Given the description of an element on the screen output the (x, y) to click on. 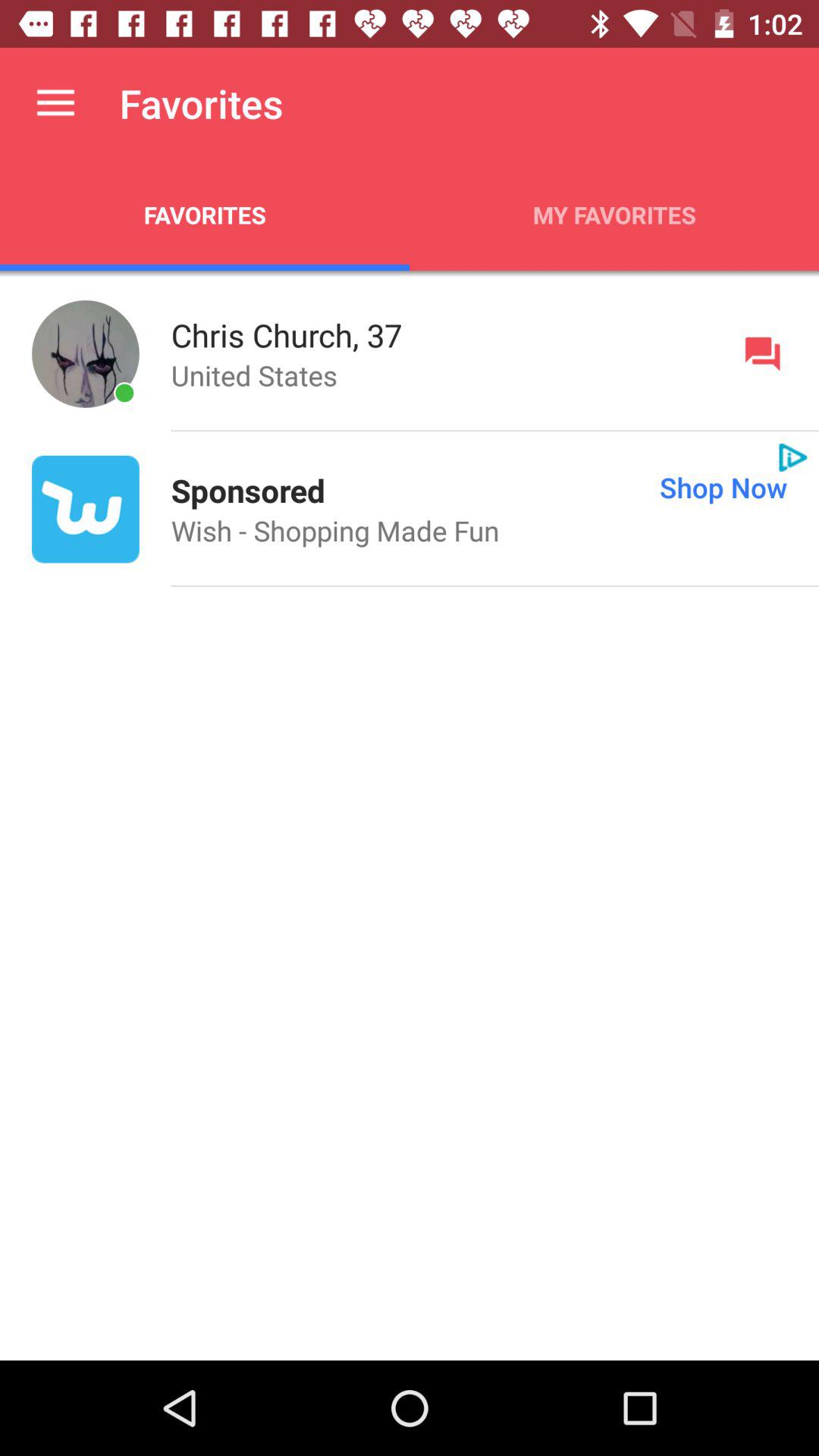
press the item next to the favorites item (614, 214)
